Given the description of an element on the screen output the (x, y) to click on. 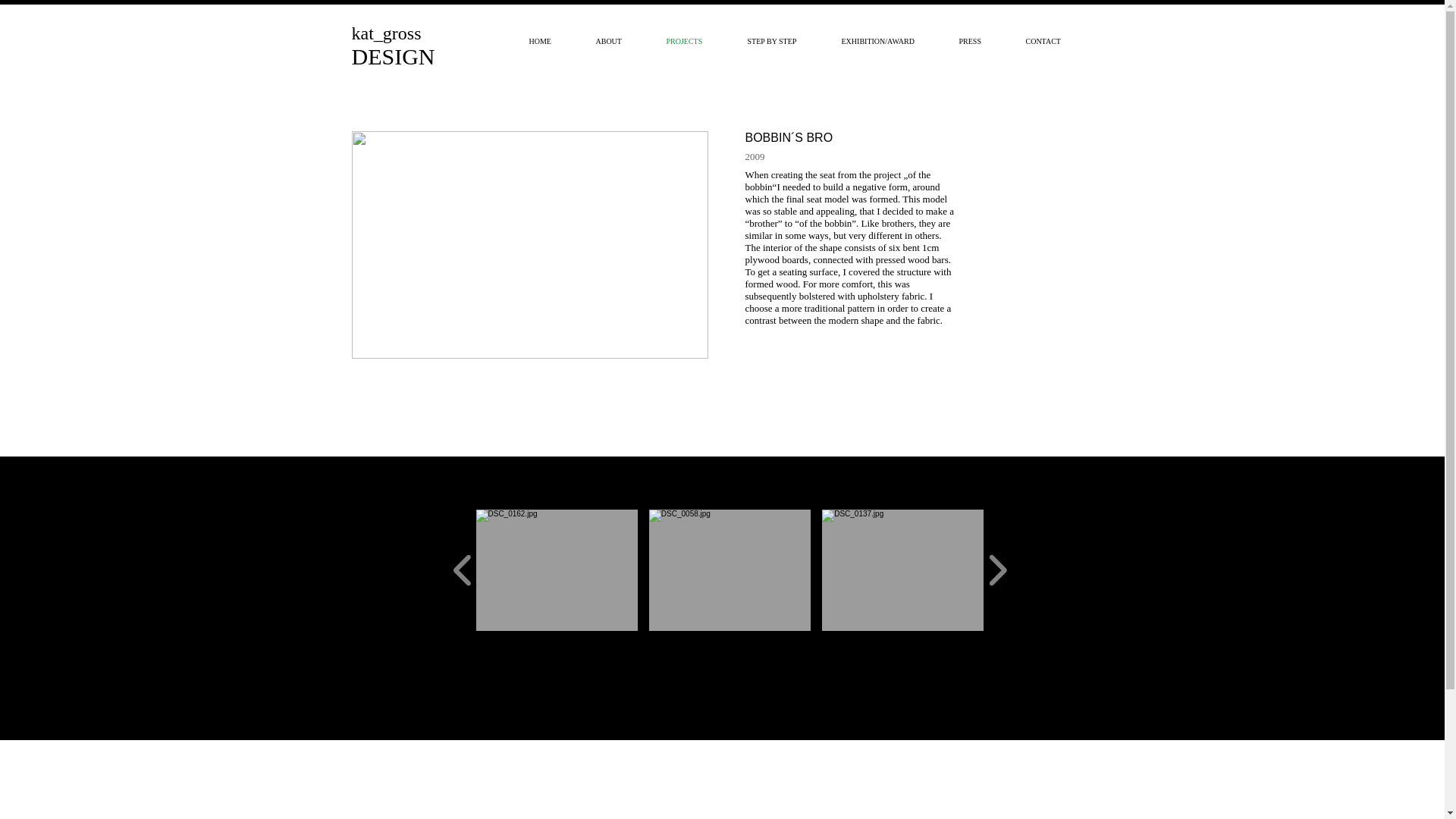
STEP BY STEP (782, 41)
PRESS (980, 41)
PROJECTS (695, 41)
ABOUT (618, 41)
CONTACT (1053, 41)
HOME (549, 41)
